Given the description of an element on the screen output the (x, y) to click on. 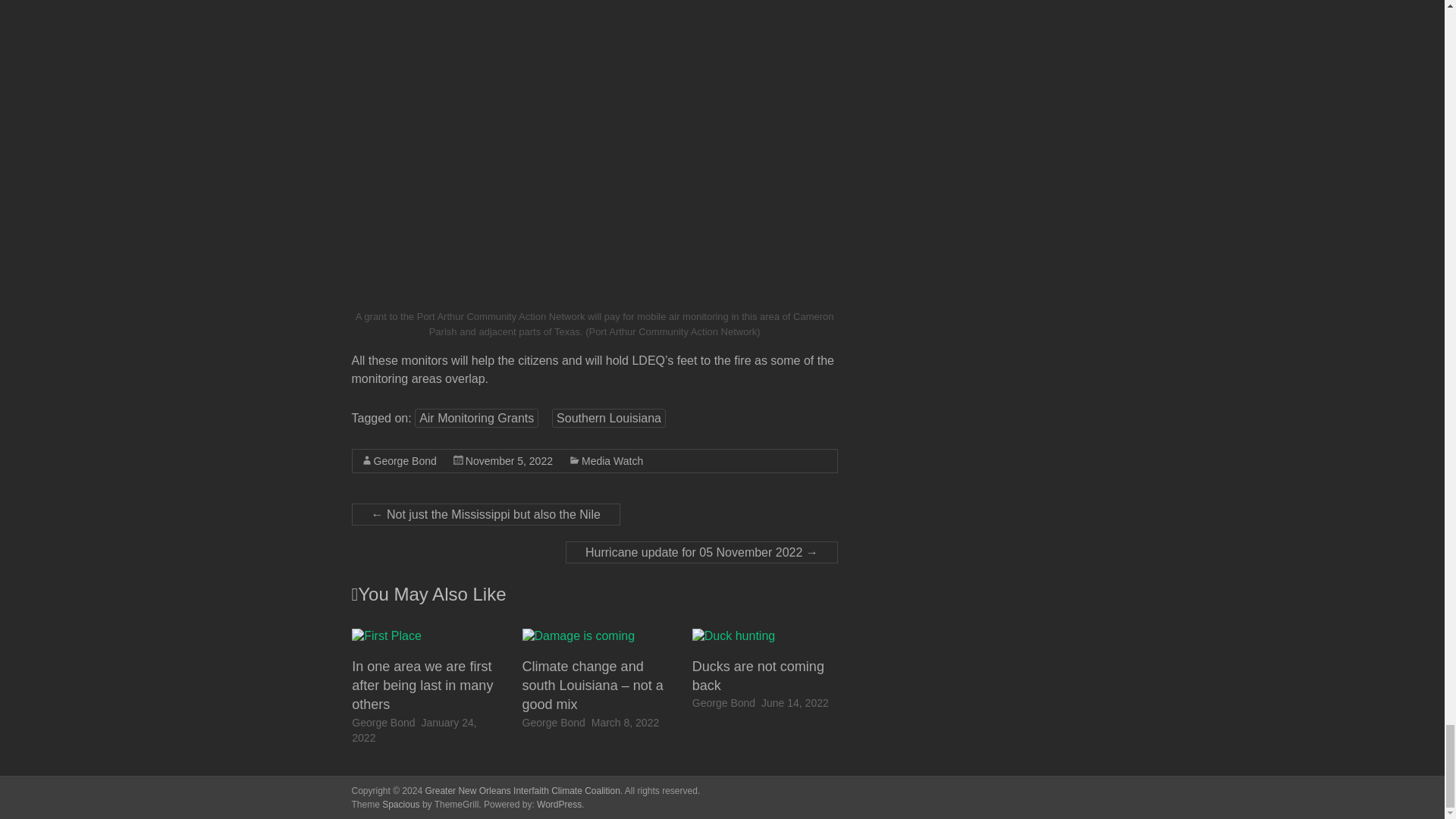
March 8, 2022 (625, 722)
George Bond (724, 702)
Ducks are not coming back (733, 635)
George Bond (403, 460)
Southern Louisiana (608, 417)
January 24, 2022 (414, 729)
Media Watch (611, 460)
In one area we are first after being last in many others (387, 635)
Air Monitoring Grants (476, 417)
George Bond (553, 722)
Ducks are not coming back (733, 635)
George Bond (383, 722)
In one area we are first after being last in many others (387, 635)
Ducks are not coming back (758, 675)
In one area we are first after being last in many others (422, 685)
